Given the description of an element on the screen output the (x, y) to click on. 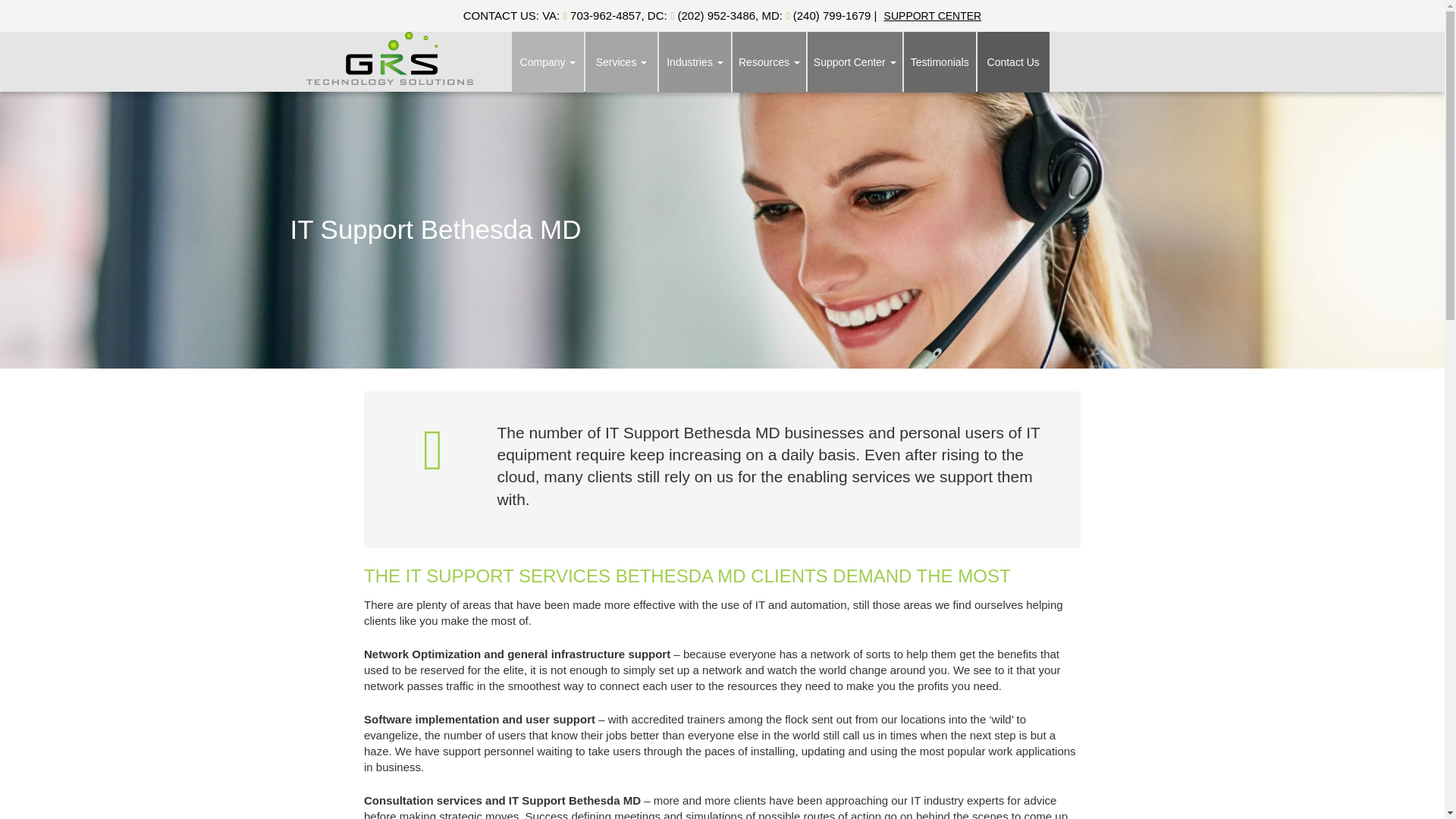
SUPPORT CENTER (932, 15)
Company (547, 61)
Clients Testimonials (939, 61)
Resources (769, 61)
Services (621, 61)
Support Center (855, 61)
Contact GRS Technology Solutions (1012, 61)
Industries (694, 61)
